Given the description of an element on the screen output the (x, y) to click on. 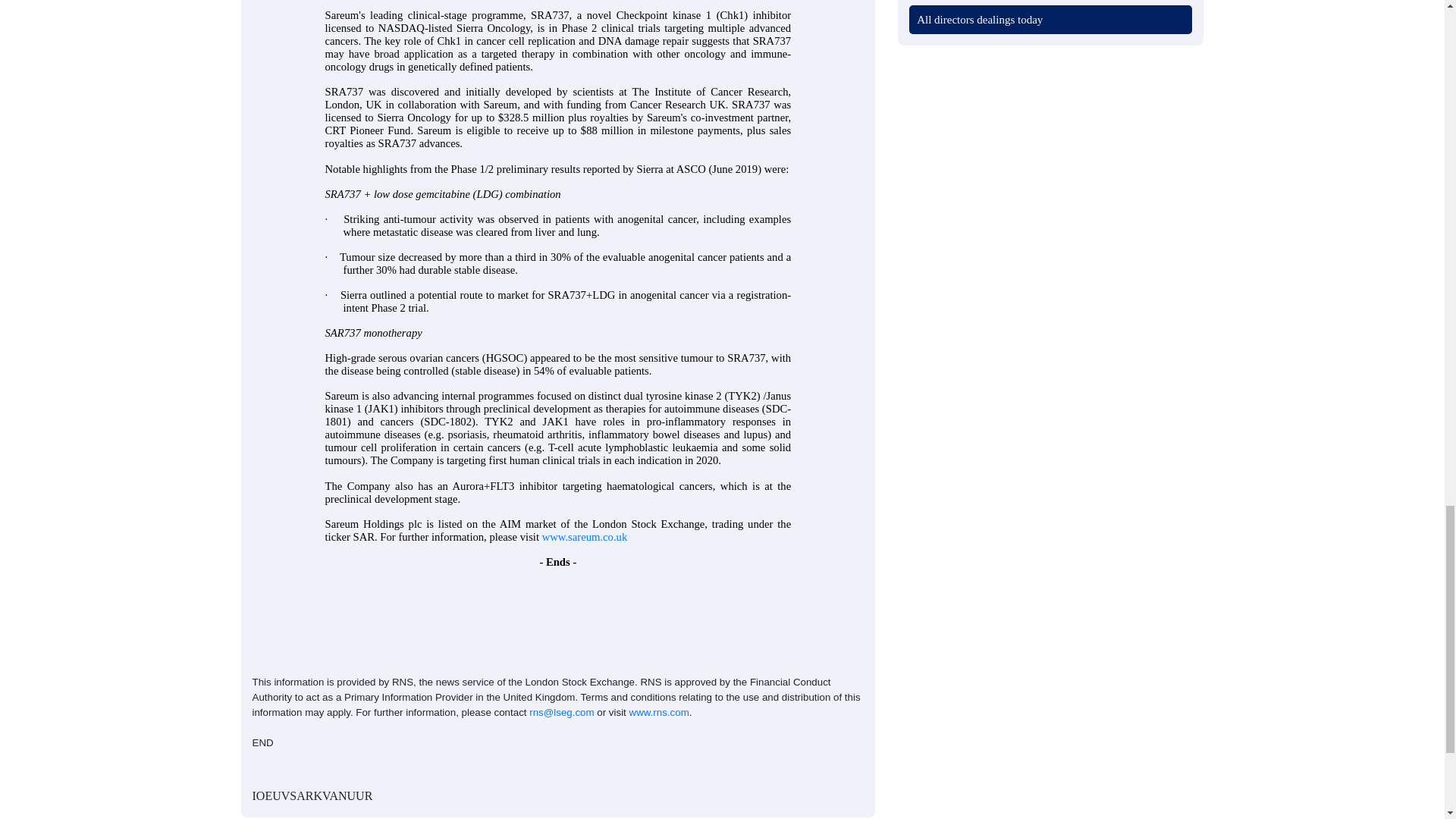
www.sareum.co.uk (584, 536)
All directors dealings today (979, 19)
www.rns.com (658, 712)
